Given the description of an element on the screen output the (x, y) to click on. 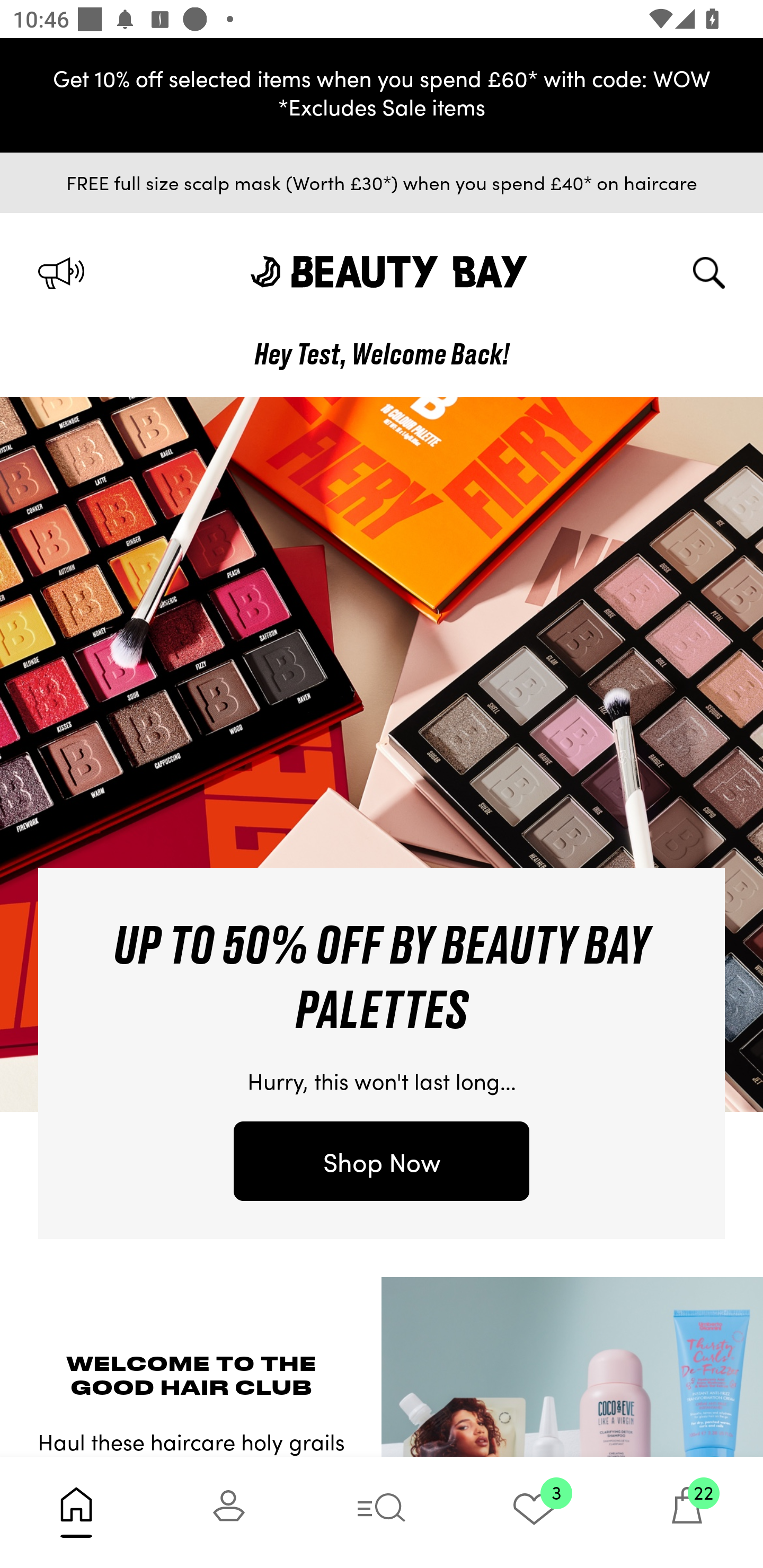
3 (533, 1512)
22 (686, 1512)
